Given the description of an element on the screen output the (x, y) to click on. 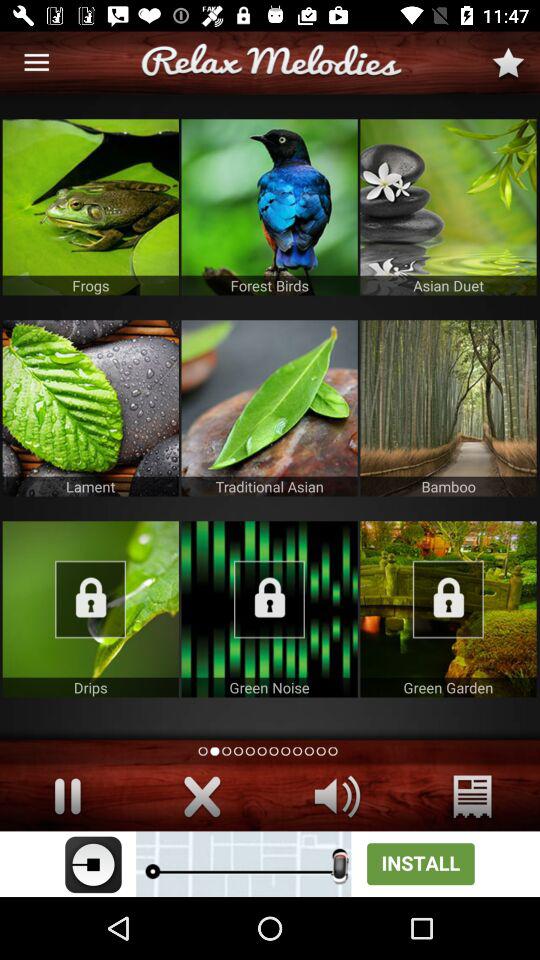
go to image (448, 207)
